Given the description of an element on the screen output the (x, y) to click on. 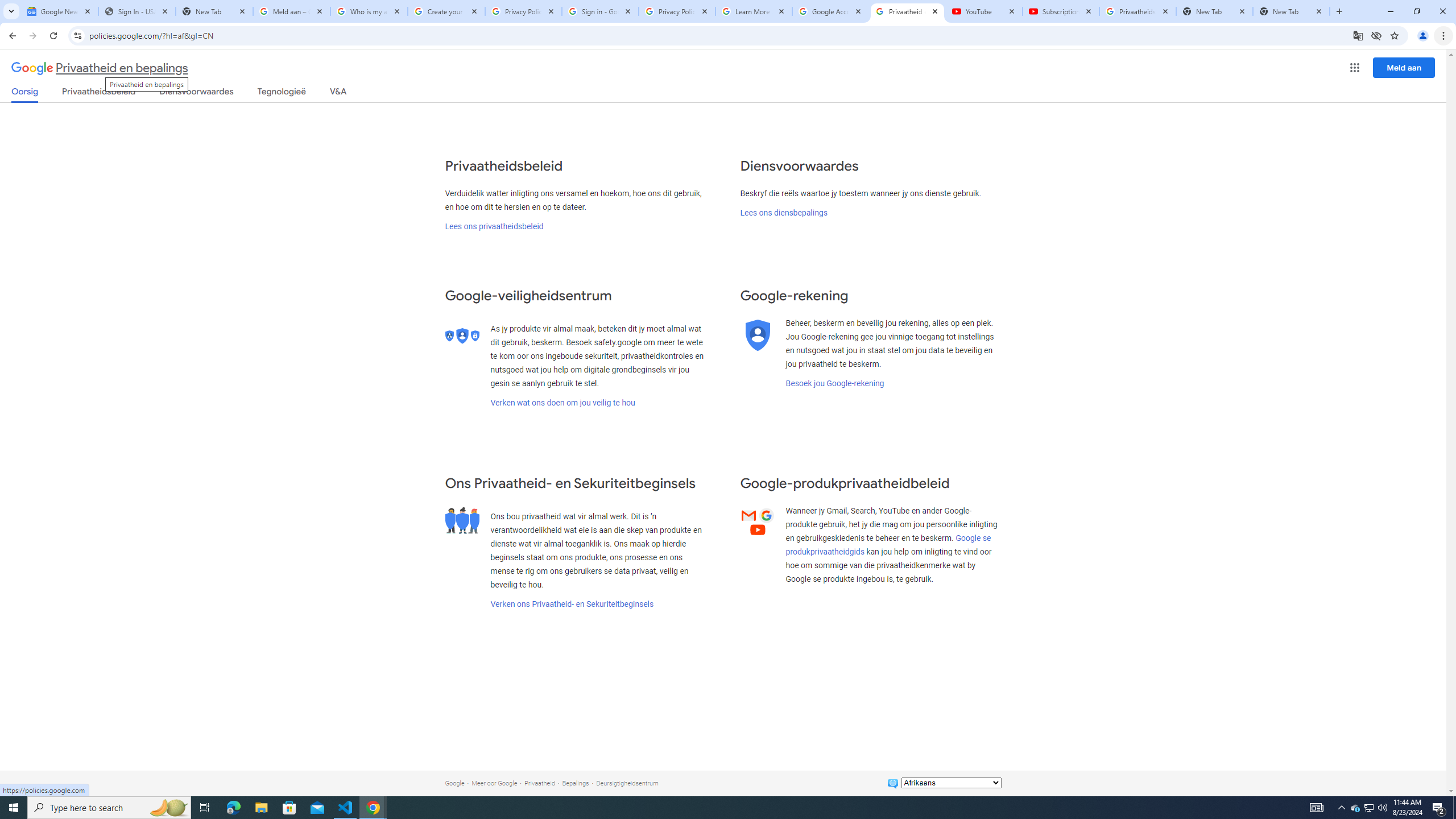
Verken ons Privaatheid- en Sekuriteitbeginsels (571, 603)
Google (454, 783)
Deursigtigheidsentrum (626, 783)
Diensvoorwaardes (196, 93)
V&A (337, 93)
Bepalings (575, 783)
Verander taal: (951, 782)
